Given the description of an element on the screen output the (x, y) to click on. 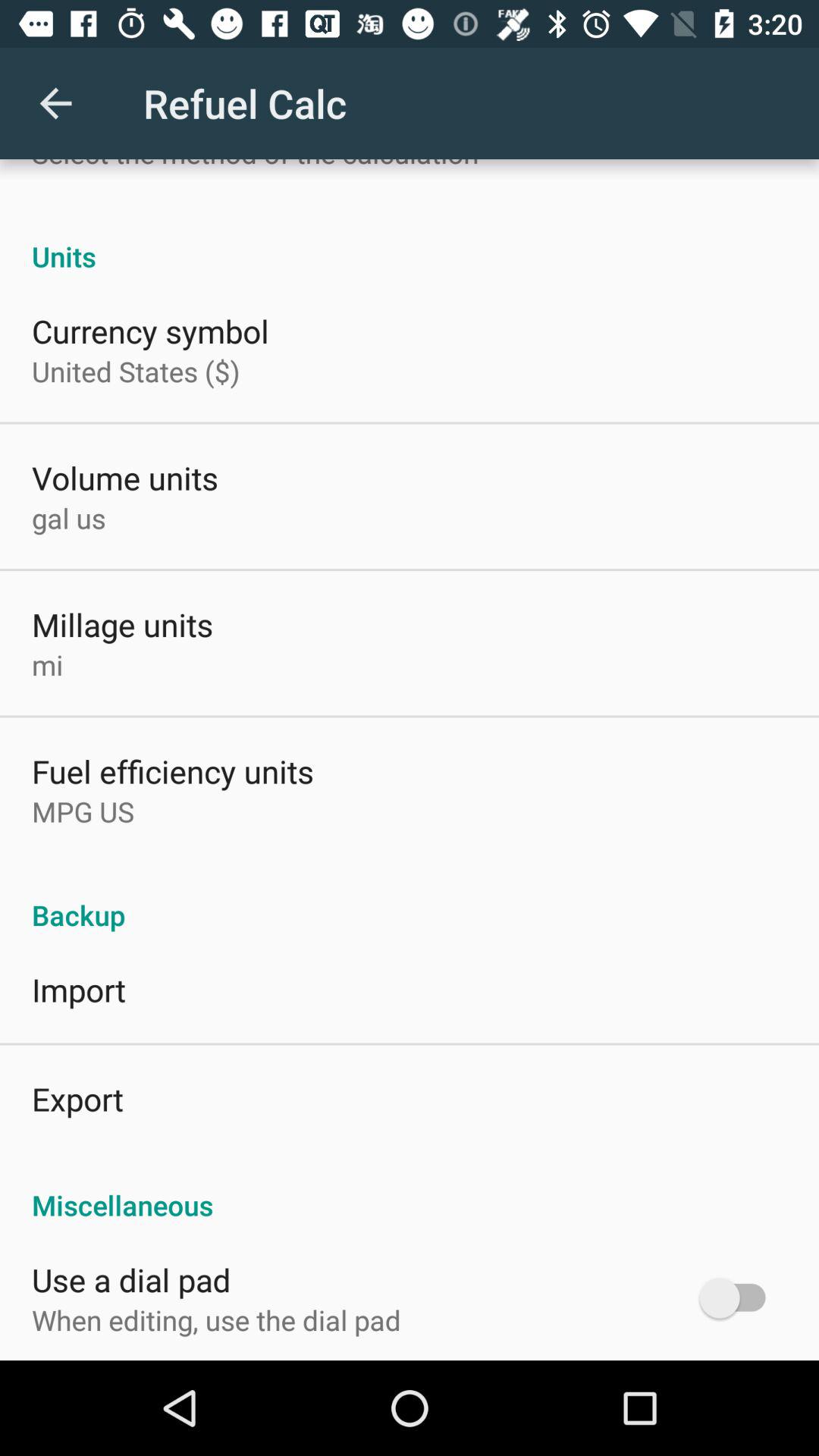
choose the item to the right of the when editing use icon (739, 1298)
